Given the description of an element on the screen output the (x, y) to click on. 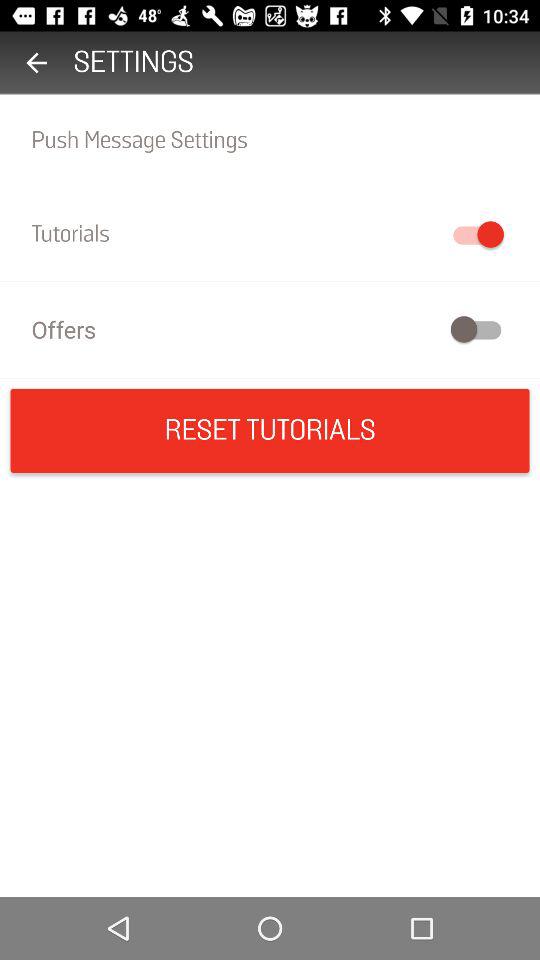
turn on item to the left of the settings icon (36, 62)
